Given the description of an element on the screen output the (x, y) to click on. 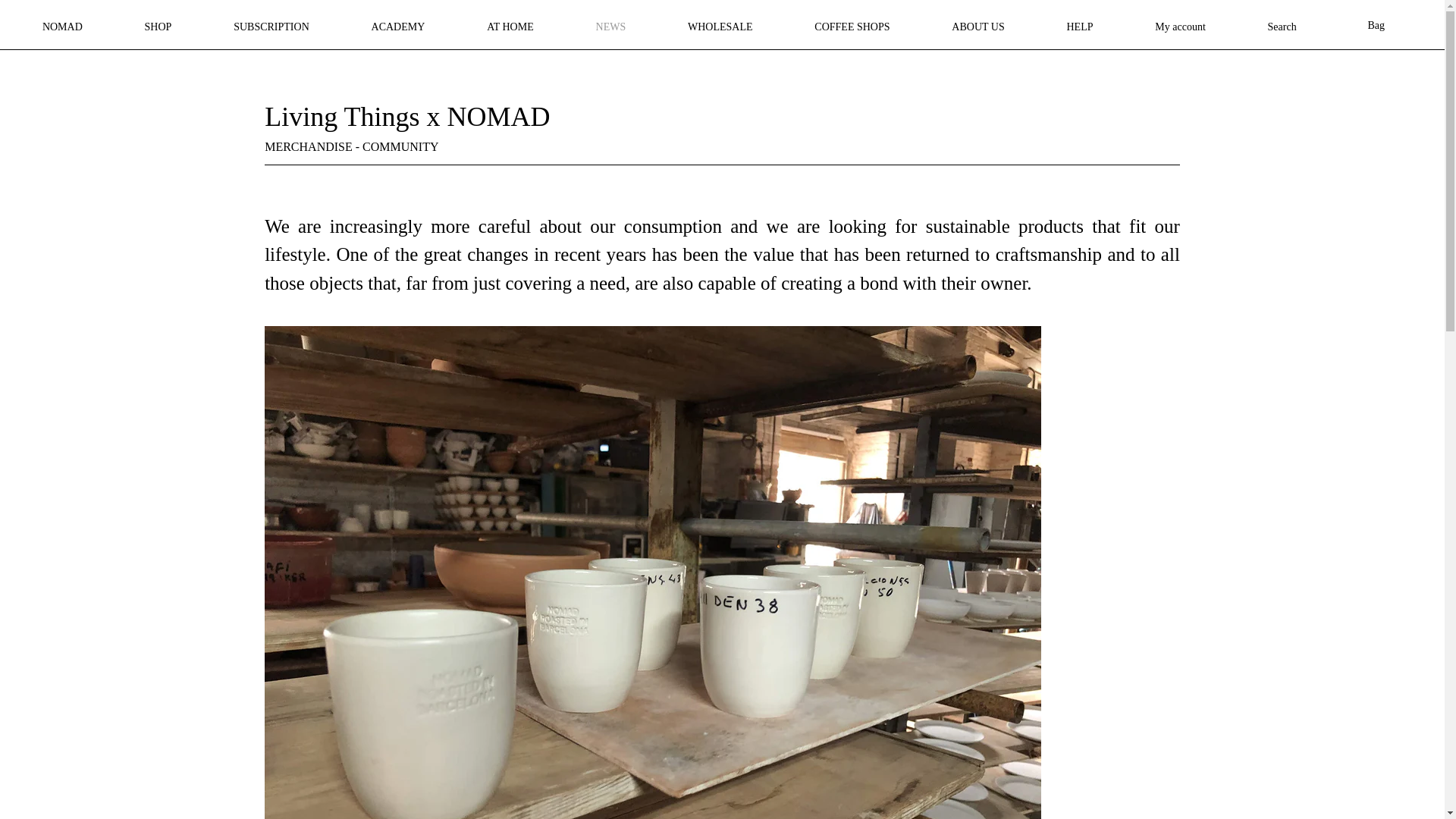
Bag (1379, 26)
AT HOME (510, 26)
COFFEE SHOPS (851, 26)
SUBSCRIPTION (271, 26)
My account (1179, 26)
ABOUT US (977, 26)
WHOLESALE (719, 26)
ACADEMY (397, 26)
NOMAD (62, 26)
Search (1282, 26)
